Given the description of an element on the screen output the (x, y) to click on. 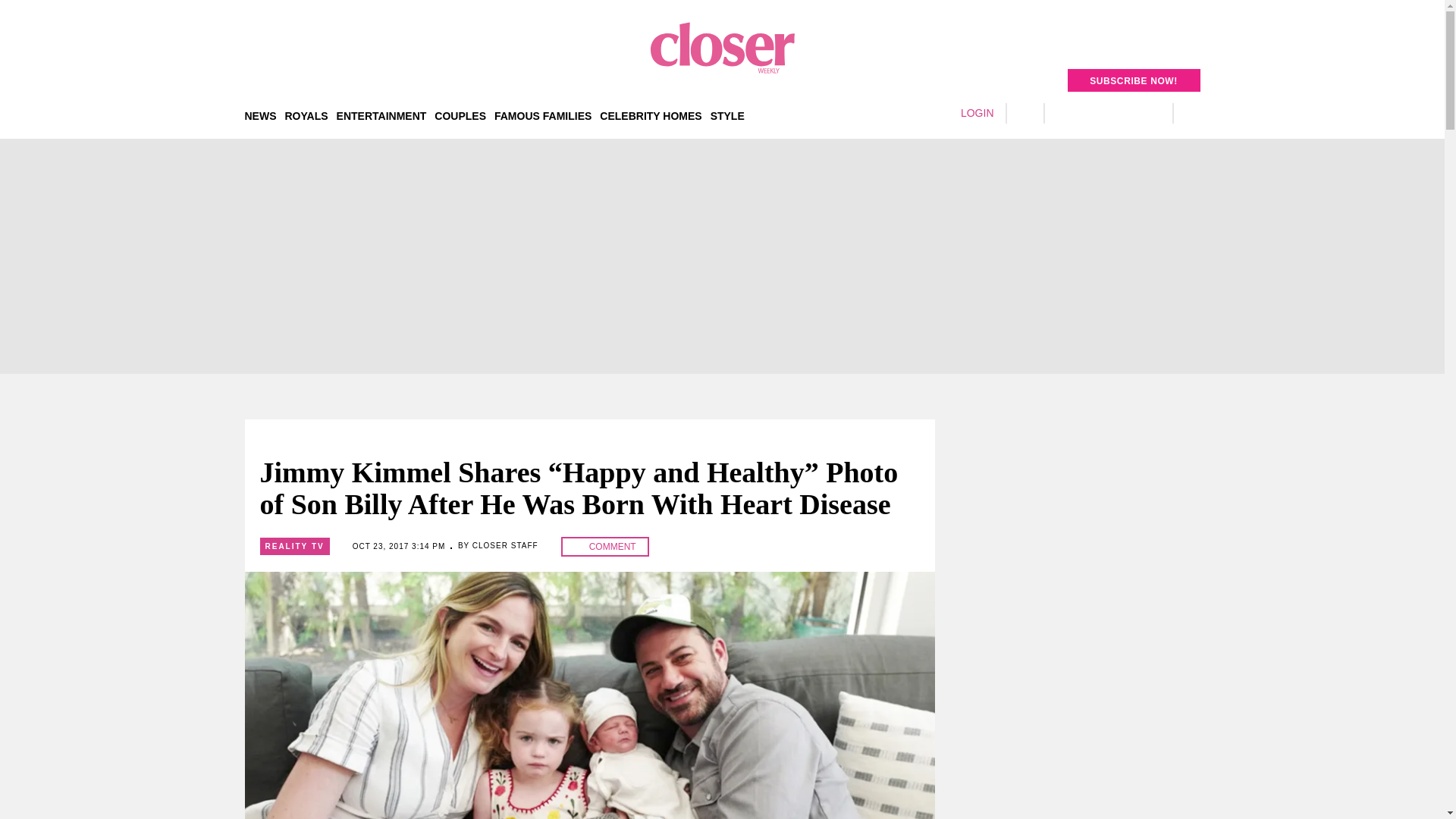
ROYALS (307, 115)
ENTERTAINMENT (381, 115)
NEWS (260, 115)
Posts by Closer Staff (504, 545)
